Given the description of an element on the screen output the (x, y) to click on. 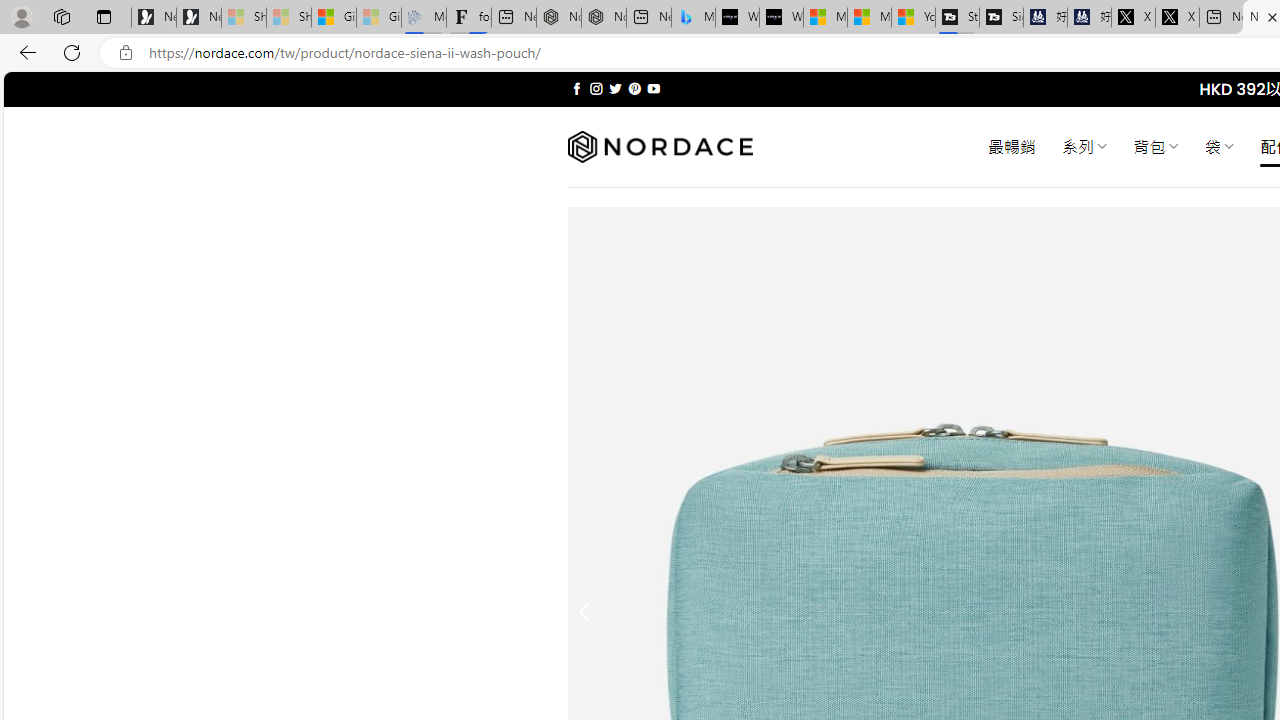
Follow on Pinterest (634, 88)
Refresh (72, 52)
Nordace (659, 147)
Microsoft Start Sports (825, 17)
Workspaces (61, 16)
